Given the description of an element on the screen output the (x, y) to click on. 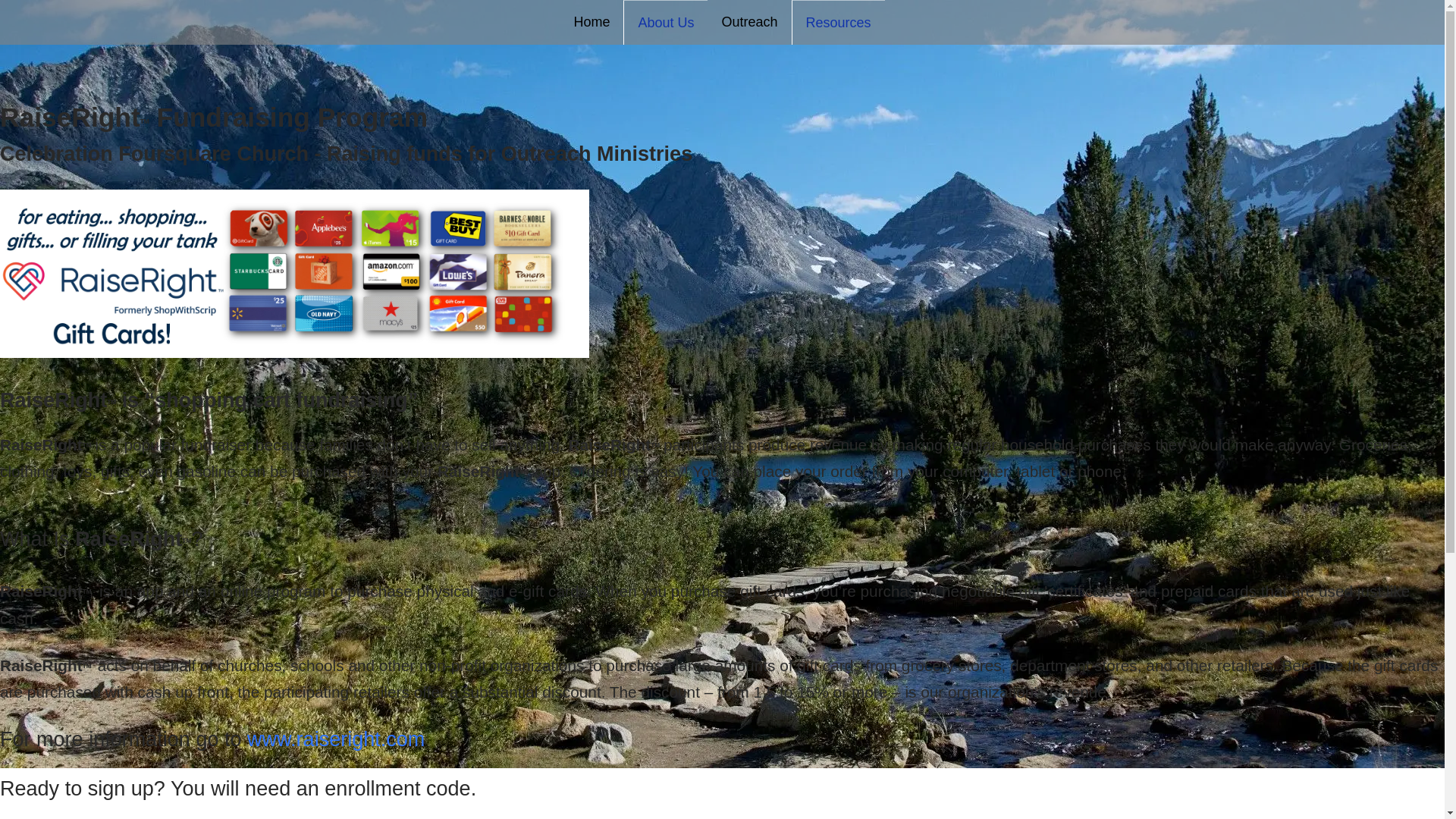
Home (591, 22)
About Us (665, 22)
Resources (838, 22)
www.raiseright.com (336, 739)
Outreach (748, 22)
